Given the description of an element on the screen output the (x, y) to click on. 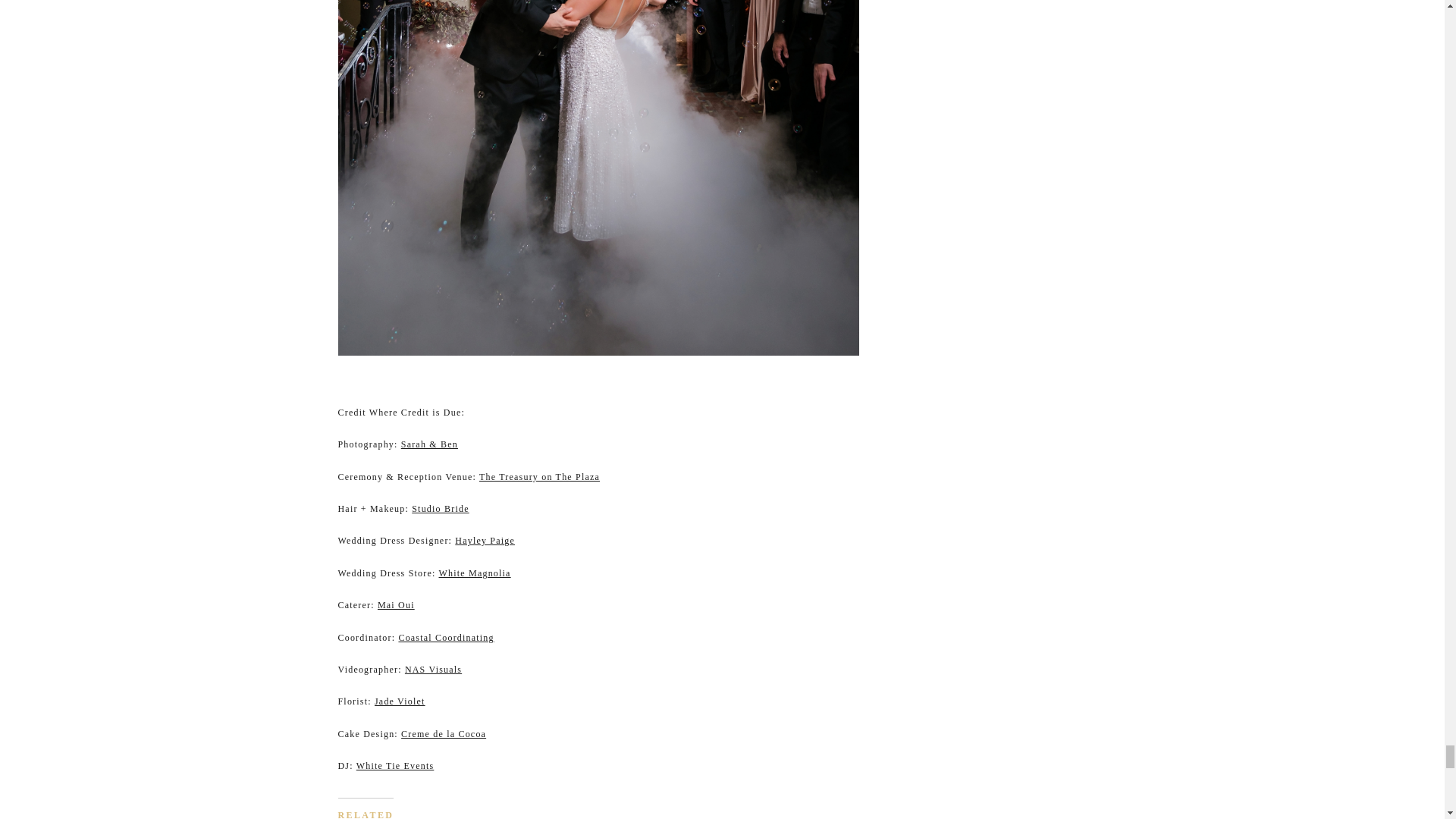
NAS Visuals (432, 669)
Studio Bride (440, 508)
Jade Violet (399, 701)
The Treasury on The Plaza (539, 476)
White Magnolia (475, 573)
White Tie Events (394, 765)
Hayley Paige (484, 540)
Mai Oui (395, 604)
Coastal Coordinating (445, 637)
Creme de la Cocoa (443, 733)
